Given the description of an element on the screen output the (x, y) to click on. 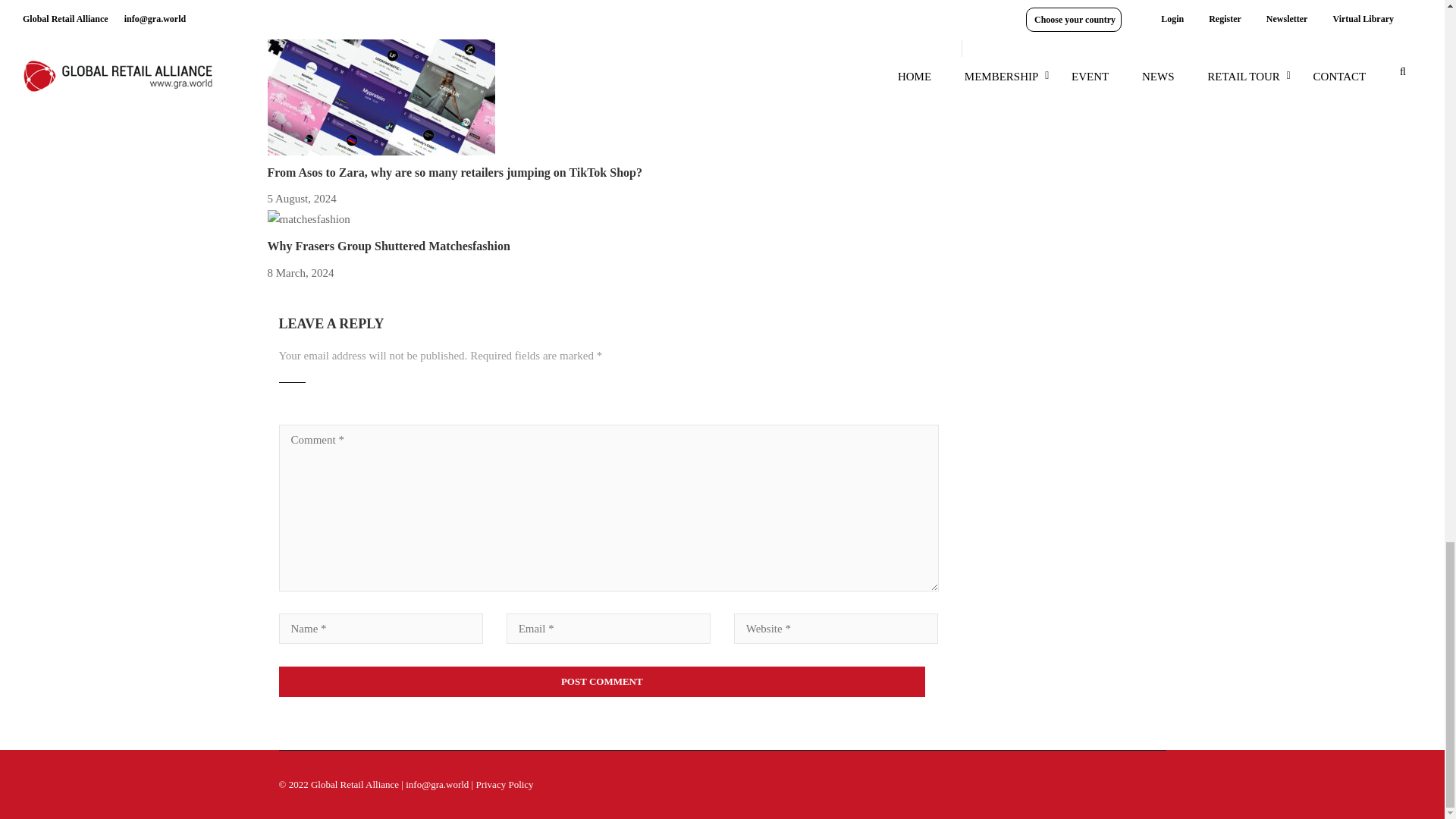
tiktok-commerce (380, 79)
matchesfashion (307, 219)
Why Frasers Group Shuttered Matchesfashion (387, 245)
Post Comment (602, 681)
